Given the description of an element on the screen output the (x, y) to click on. 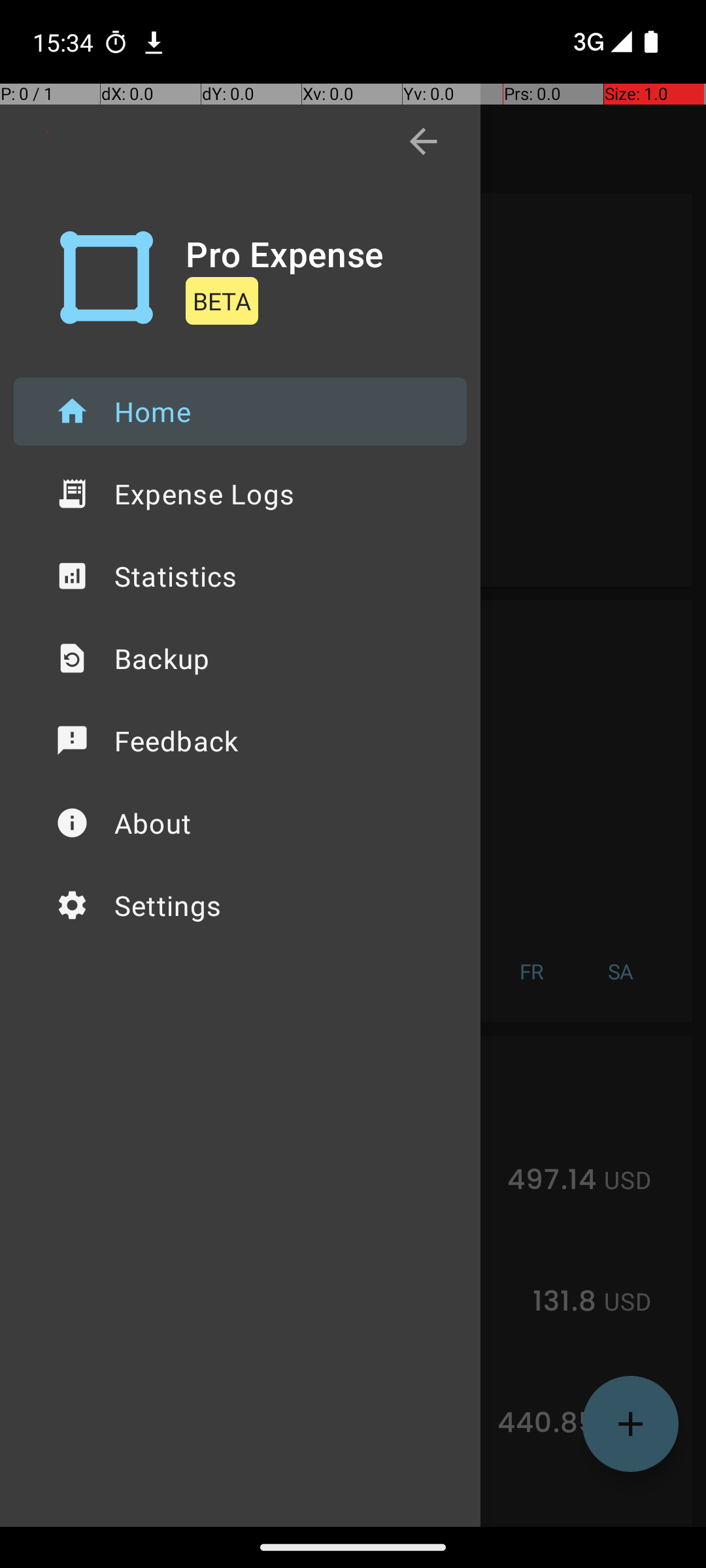
Chrome notification: m.youtube.com Element type: android.widget.ImageView (153, 41)
